Given the description of an element on the screen output the (x, y) to click on. 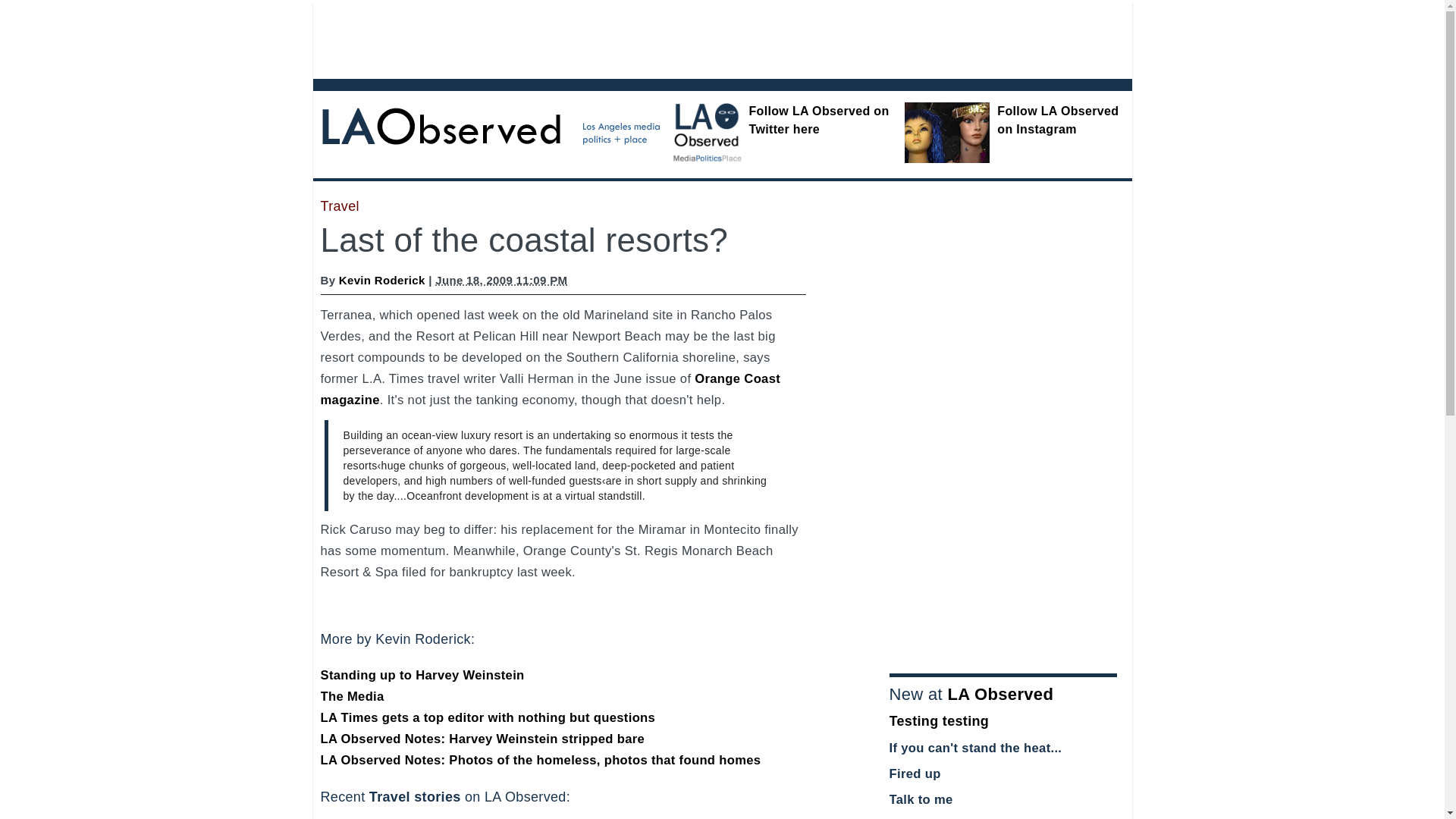
LA Observed Notes: Harvey Weinstein stripped bare (482, 739)
Fired up (914, 773)
Follow LA Observed on Instagram (1057, 119)
2009-06-18T23:09:33-08:00 (501, 279)
Testing testing (938, 720)
Follow LA Observed on Twitter here (819, 119)
LA Times gets a top editor with nothing but questions (487, 717)
Standing up to Harvey Weinstein (422, 675)
Orange Coast magazine (550, 389)
LA Observed (999, 693)
If you can't stand the heat... (974, 748)
Talk to me (920, 799)
Kevin Roderick (382, 279)
